Given the description of an element on the screen output the (x, y) to click on. 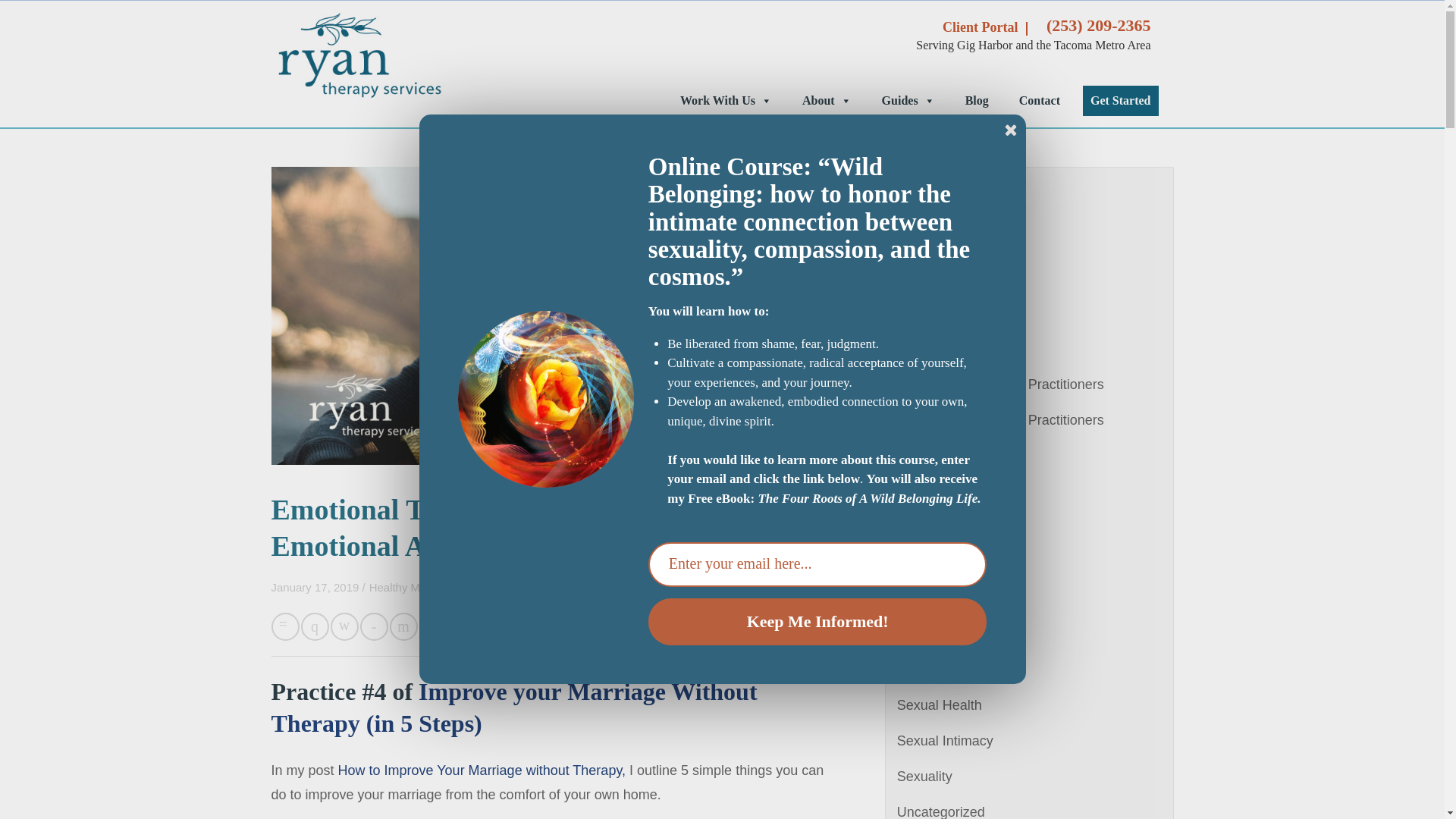
Close (1011, 129)
Keep Me Informed! (817, 621)
Contact (1039, 100)
Blog (976, 100)
Get Started (1120, 100)
About (826, 100)
Guides (908, 100)
Work With Us (725, 100)
Client Portal (979, 27)
